Given the description of an element on the screen output the (x, y) to click on. 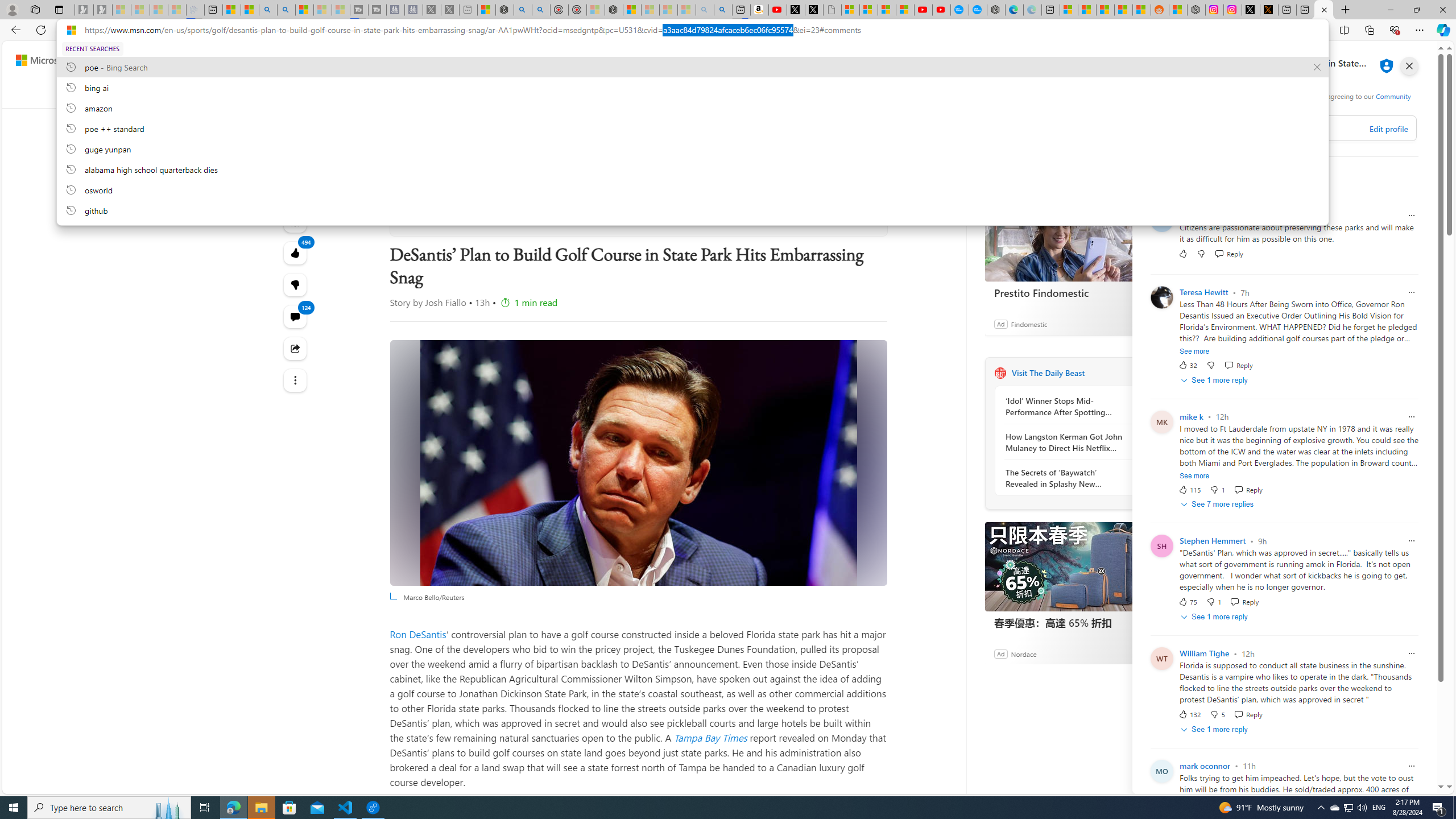
Sort comments by (1193, 179)
Check Your Personal Offers (669, 121)
Open navigation menu (287, 92)
Share this story (295, 348)
Listen to this article (295, 221)
Tampa Bay Times (710, 737)
NFL (455, 92)
amazon, recent searches from history (691, 107)
Skip to content (49, 59)
Teresa Hewitt (1203, 292)
Microsoft rewards (1374, 60)
